Given the description of an element on the screen output the (x, y) to click on. 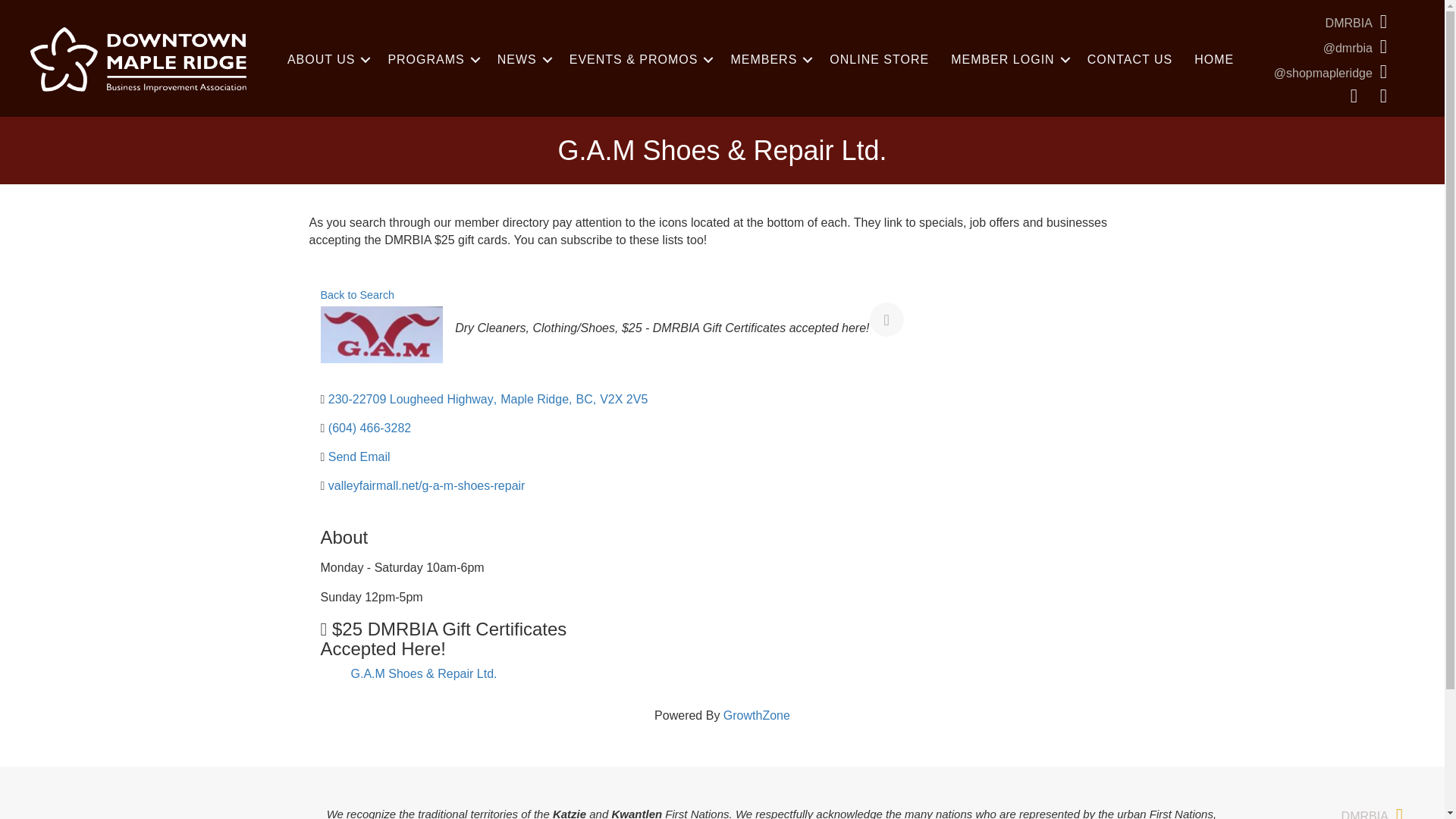
MEMBER LOGIN (1007, 59)
CONTACT US (1130, 59)
PROGRAMS (430, 59)
NEWS (521, 59)
MEMBERS (768, 59)
HOME (1213, 59)
ONLINE STORE (878, 59)
ABOUT US (326, 59)
